Given the description of an element on the screen output the (x, y) to click on. 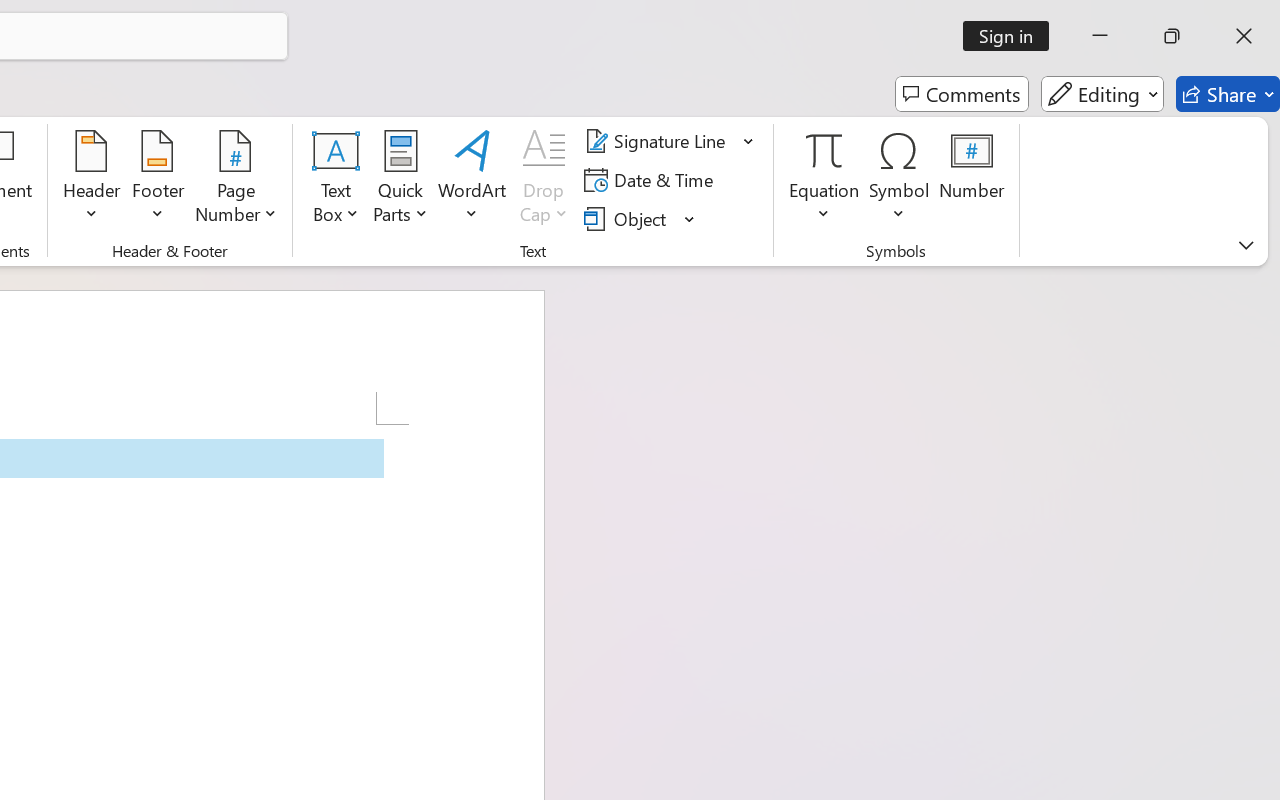
Number... (971, 179)
Sign in (1012, 35)
Drop Cap (543, 179)
Date & Time... (651, 179)
Footer (157, 179)
Object... (640, 218)
Text Box (335, 179)
Equation (823, 150)
